Given the description of an element on the screen output the (x, y) to click on. 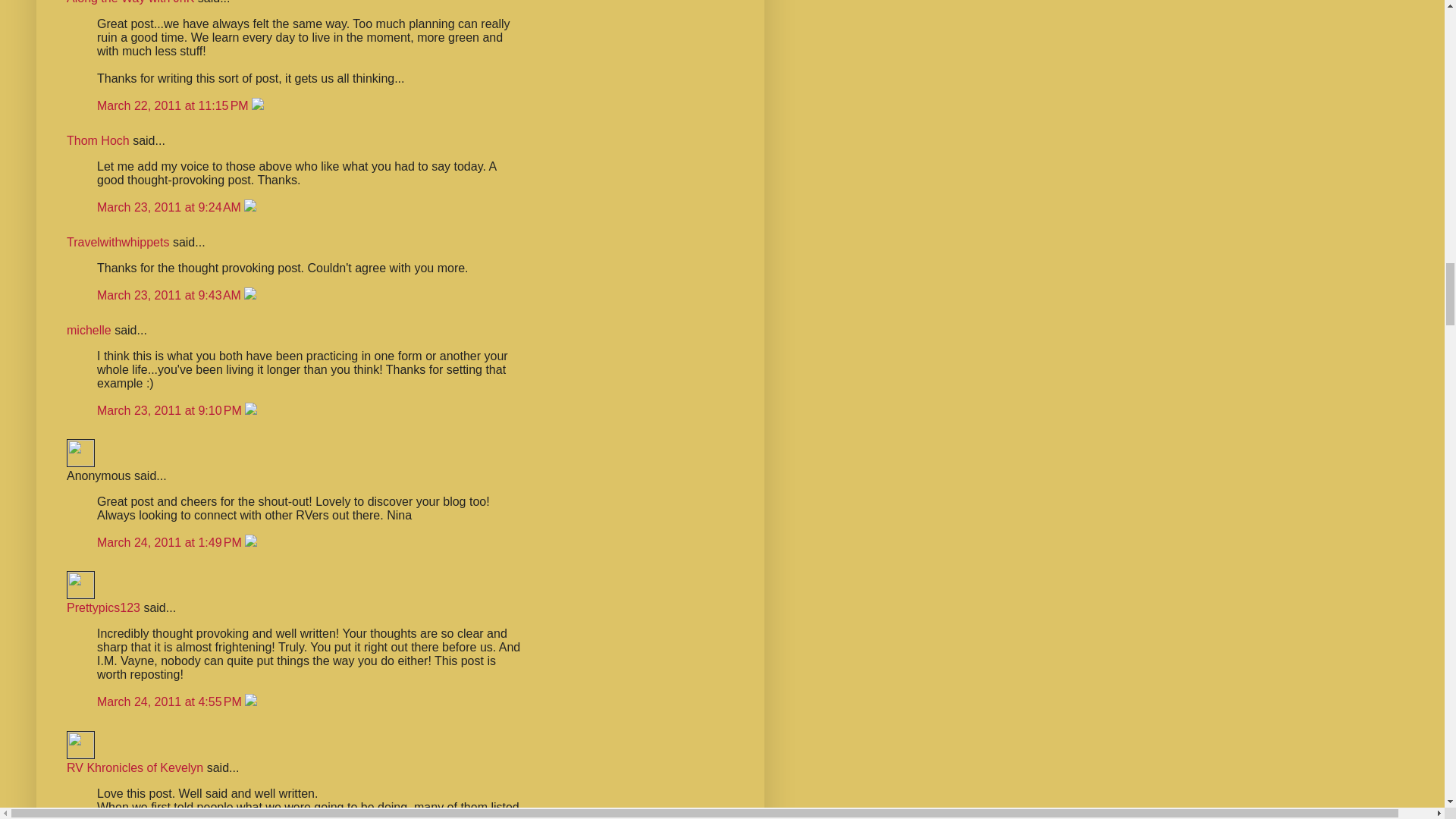
Along the Way with JnK (129, 2)
